Given the description of an element on the screen output the (x, y) to click on. 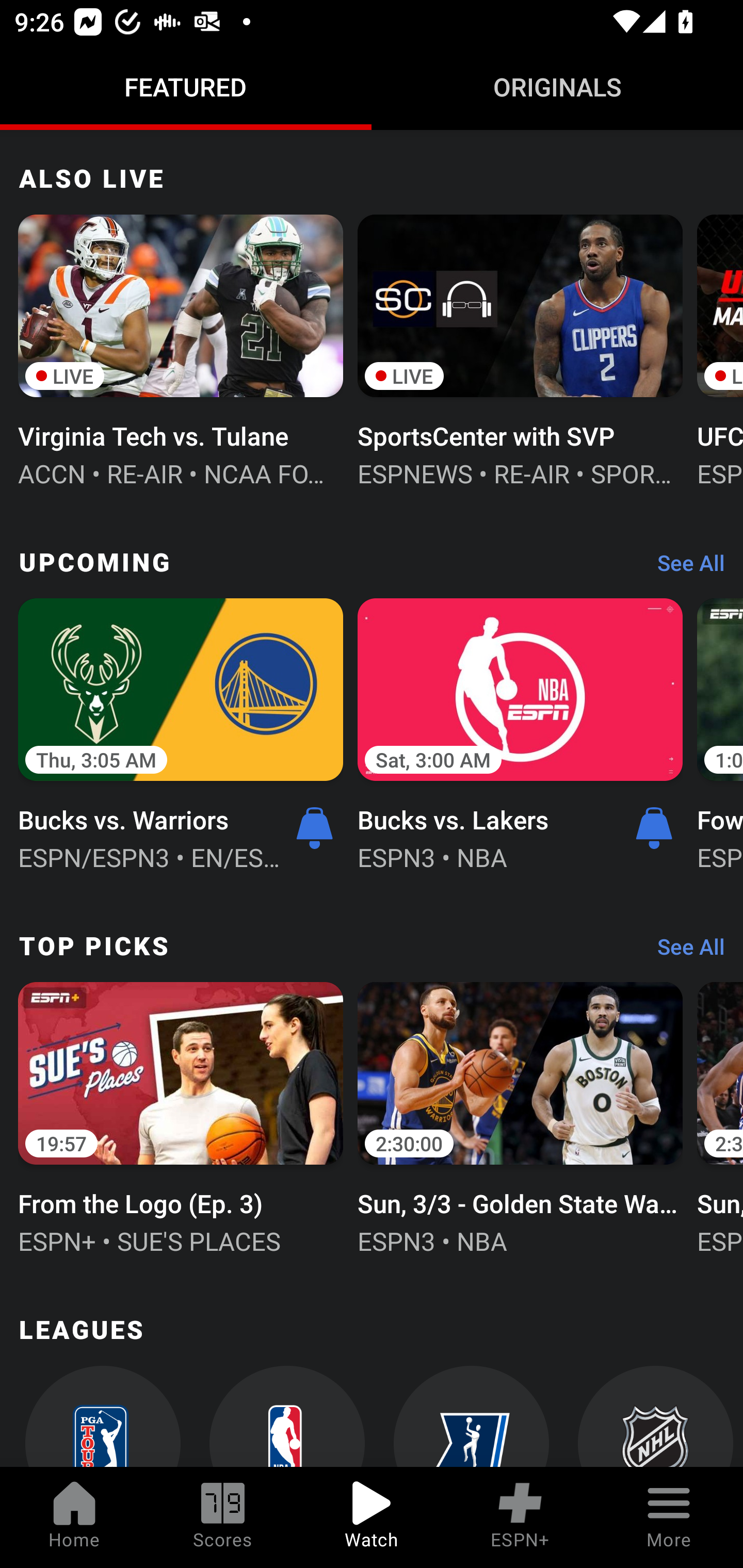
Originals ORIGINALS (557, 86)
See All (683, 567)
See All (683, 951)
19:57 From the Logo (Ep. 3) ESPN+ • SUE'S PLACES (180, 1116)
Home (74, 1517)
Scores (222, 1517)
ESPN+ (519, 1517)
More (668, 1517)
